Given the description of an element on the screen output the (x, y) to click on. 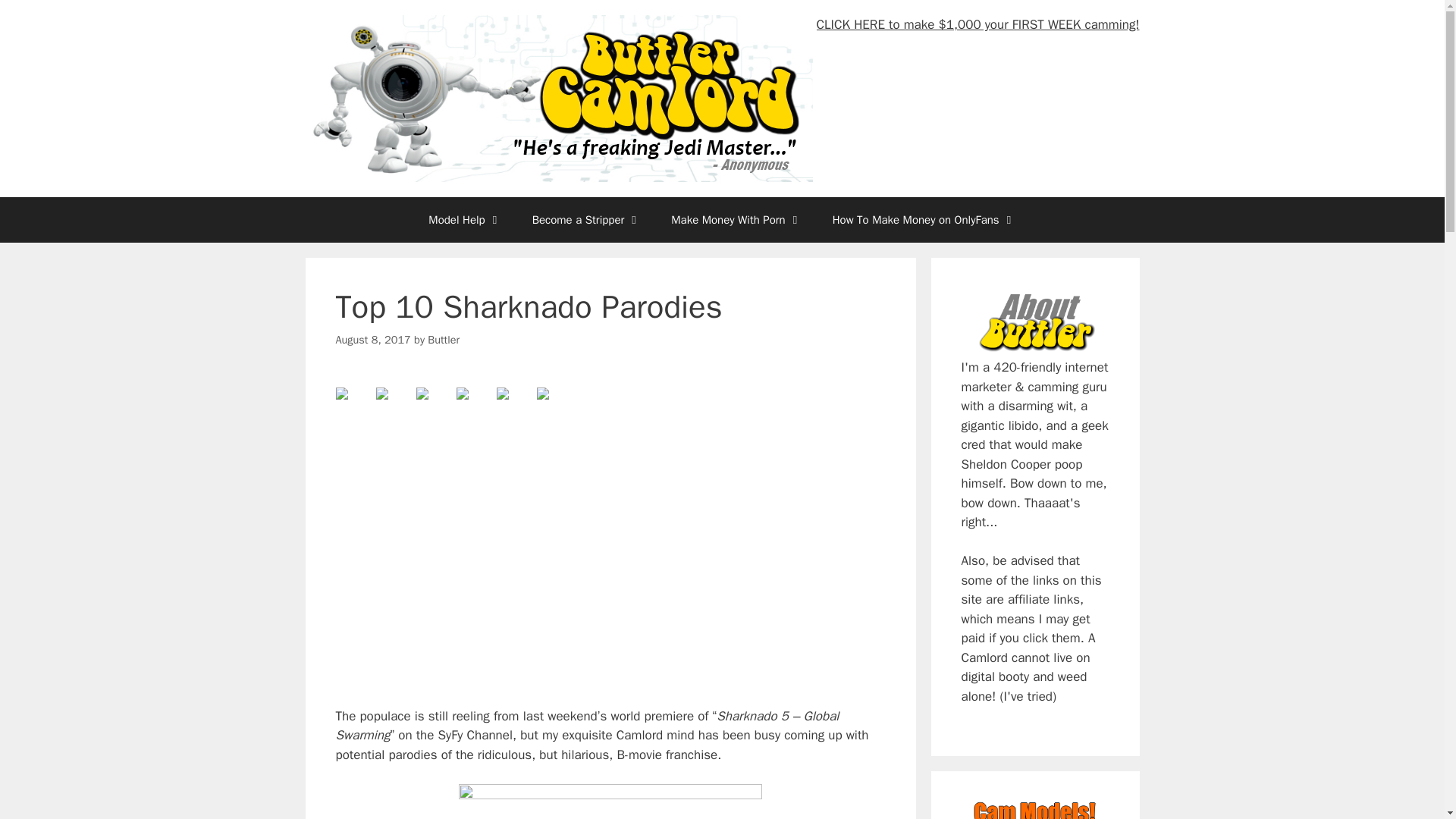
Pin it with Pinterest (462, 393)
Share on Facebook (352, 405)
How To Make Money on OnlyFans (923, 219)
Share on Linkedin (514, 405)
Share on Facebook (340, 393)
View all posts by Buttler (444, 339)
Share on Reddit (432, 405)
Become a Stripper (586, 219)
Model Help (464, 219)
Make Money With Porn (736, 219)
Share on Twitter (393, 405)
Share on Twitter (381, 393)
Share on Reddit (421, 393)
Pin it with Pinterest (475, 405)
